Given the description of an element on the screen output the (x, y) to click on. 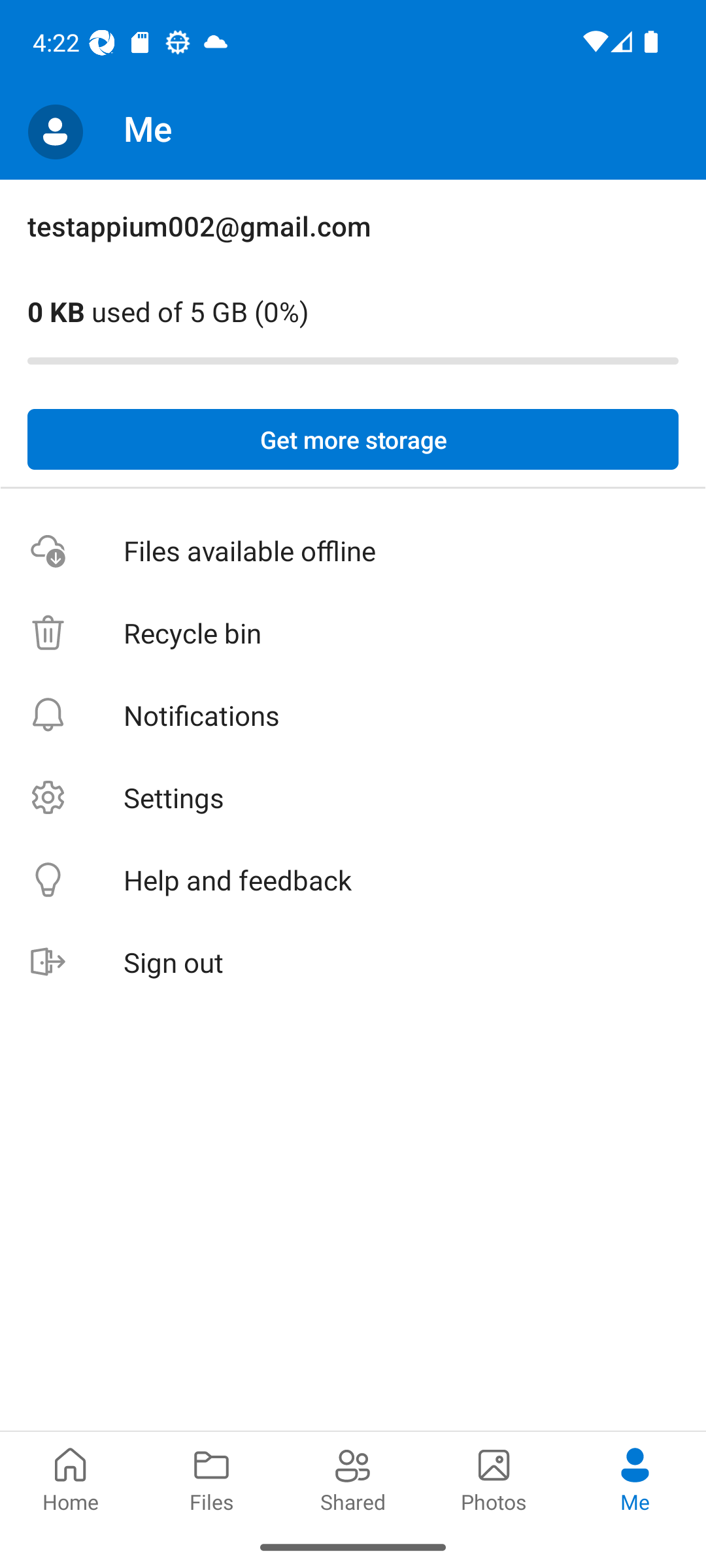
Account switcher (55, 131)
Get more storage (352, 439)
Files available offline (353, 550)
Recycle bin (353, 633)
Notifications (353, 714)
Settings (353, 796)
Help and feedback (353, 879)
Sign out (353, 962)
Home pivot Home (70, 1478)
Files pivot Files (211, 1478)
Shared pivot Shared (352, 1478)
Photos pivot Photos (493, 1478)
